Given the description of an element on the screen output the (x, y) to click on. 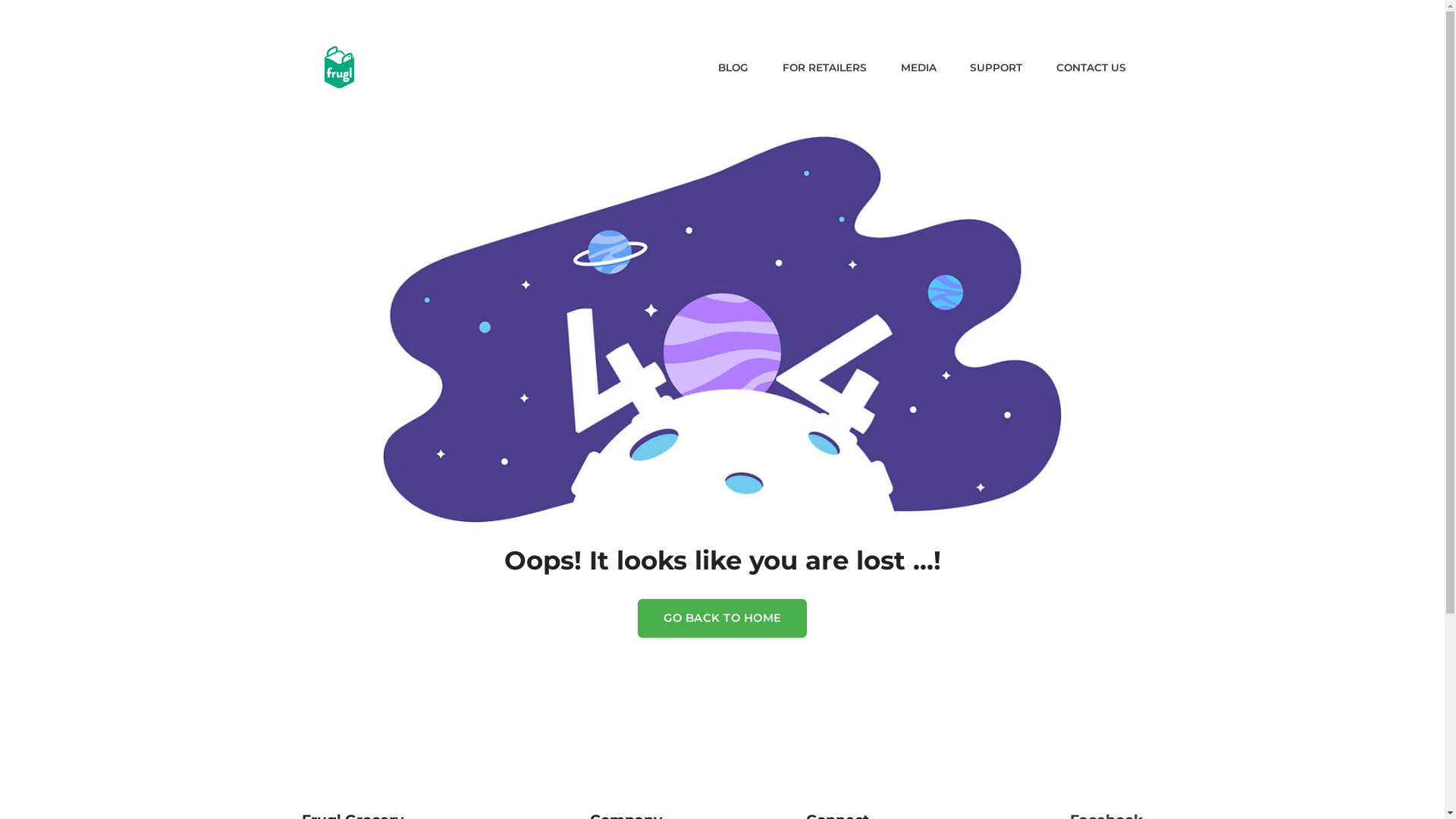
CONTACT US Element type: text (1091, 67)
SUPPORT Element type: text (995, 67)
FOR RETAILERS Element type: text (824, 67)
GO BACK TO HOME Element type: text (722, 618)
BLOG Element type: text (733, 67)
MEDIA Element type: text (918, 67)
